Given the description of an element on the screen output the (x, y) to click on. 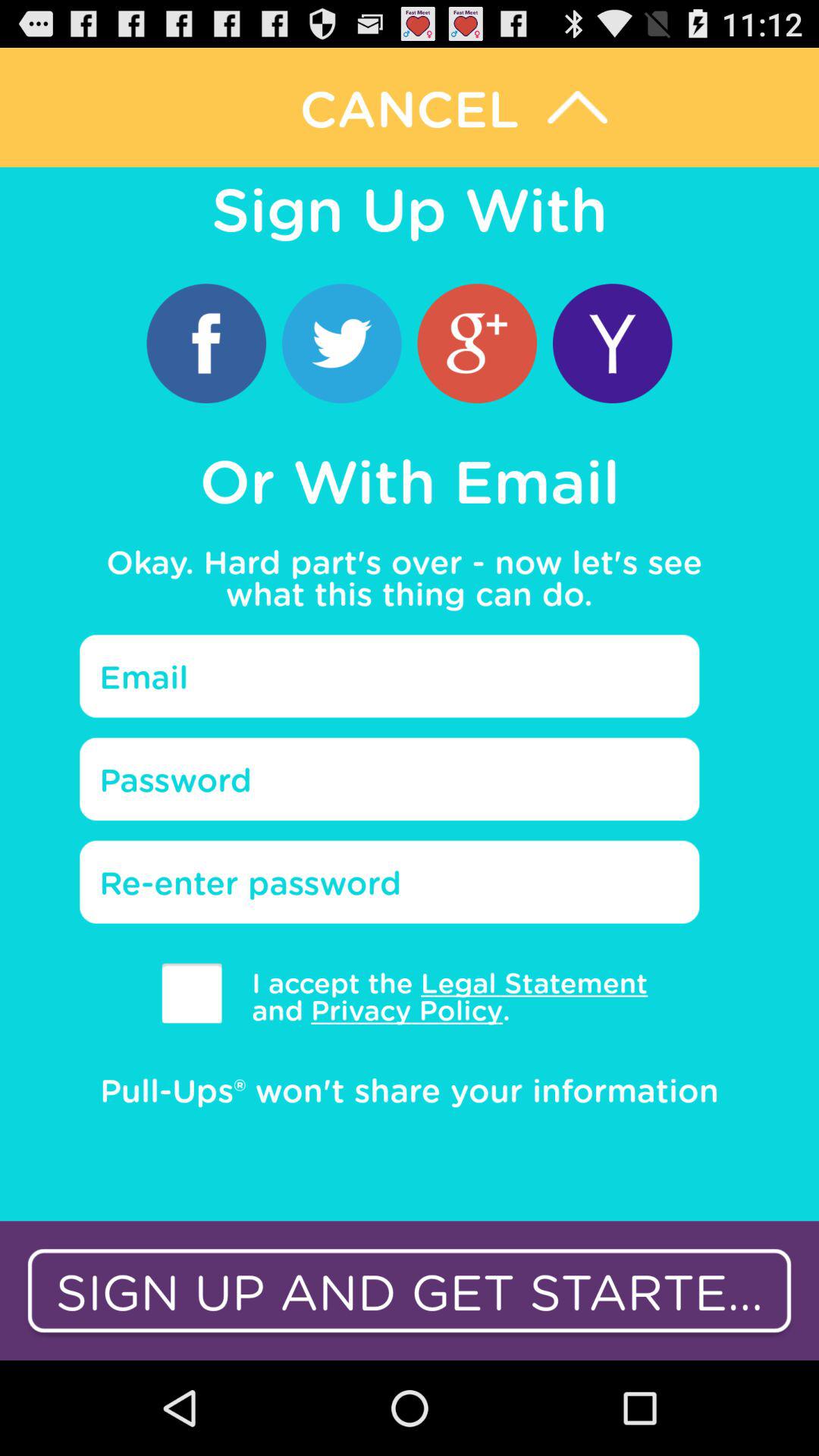
enter password again (389, 881)
